Given the description of an element on the screen output the (x, y) to click on. 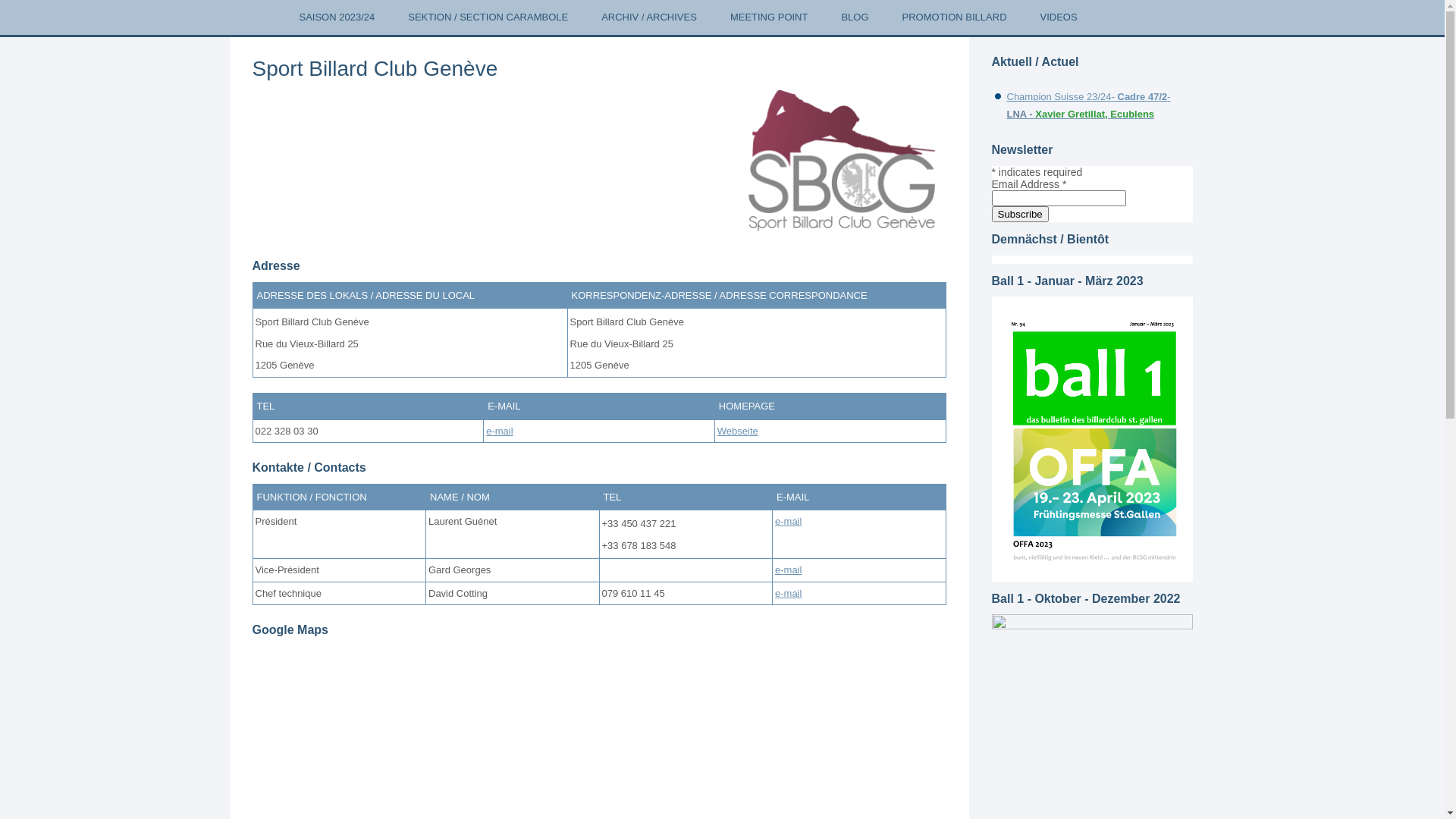
Webseite Element type: text (737, 430)
SEKTION / SECTION CARAMBOLE Element type: text (487, 17)
VIDEOS Element type: text (1058, 17)
e-mail Element type: text (499, 430)
BLOG Element type: text (854, 17)
Subscribe Element type: text (1019, 214)
e-mail Element type: text (788, 593)
e-mail Element type: text (788, 521)
MEETING POINT Element type: text (769, 17)
PROMOTION BILLARD Element type: text (954, 17)
SAISON 2023/24 Element type: text (336, 17)
e-mail Element type: text (788, 569)
ARCHIV / ARCHIVES Element type: text (648, 17)
